Given the description of an element on the screen output the (x, y) to click on. 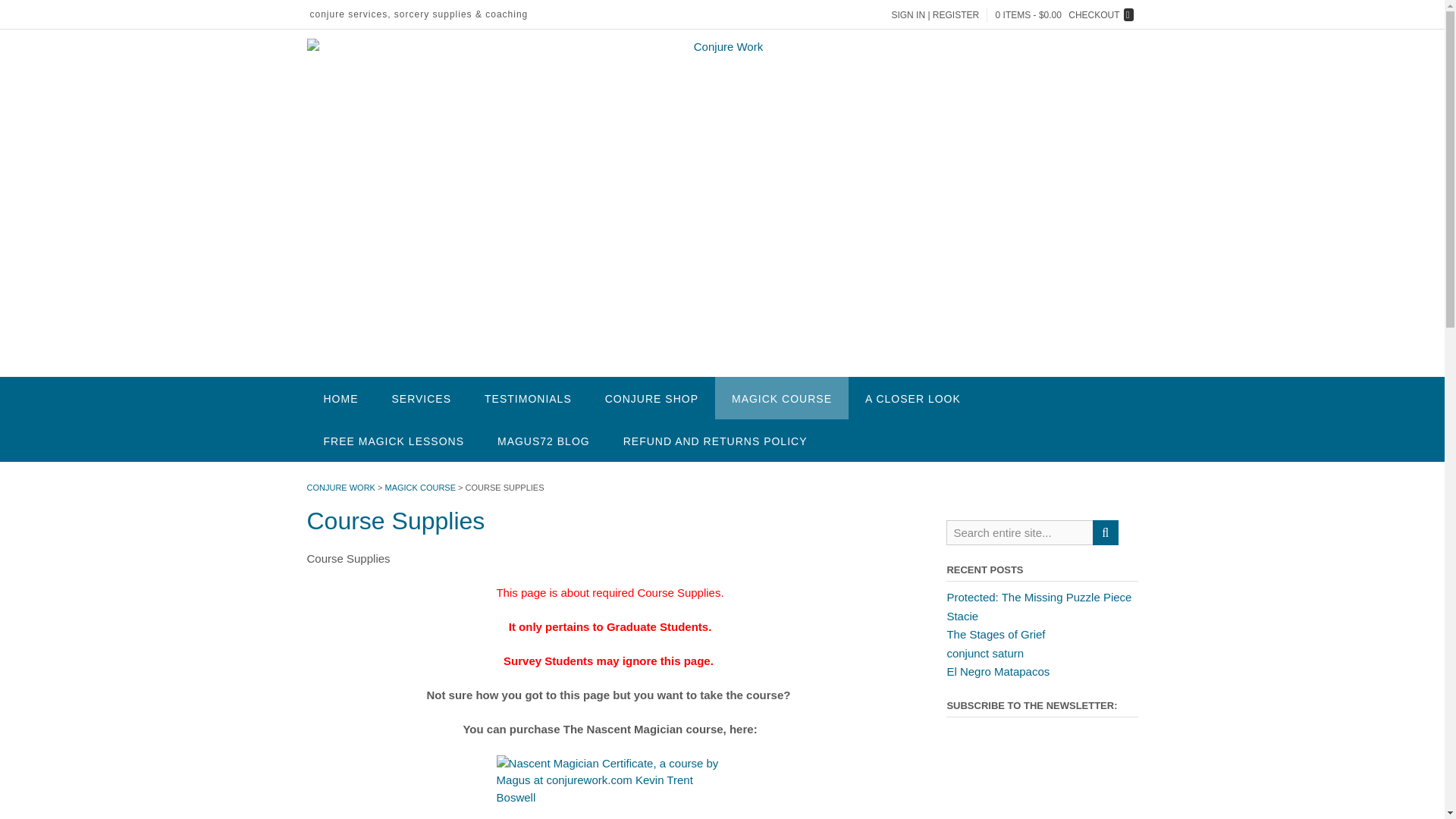
Go to Conjure Work. (339, 487)
MAGICK COURSE (781, 397)
TESTIMONIALS (527, 397)
CONJURE SHOP (651, 397)
FREE MAGICK LESSONS (392, 440)
SERVICES (420, 397)
HOME (339, 397)
A CLOSER LOOK (912, 397)
Go to Magick Course. (421, 487)
